Given the description of an element on the screen output the (x, y) to click on. 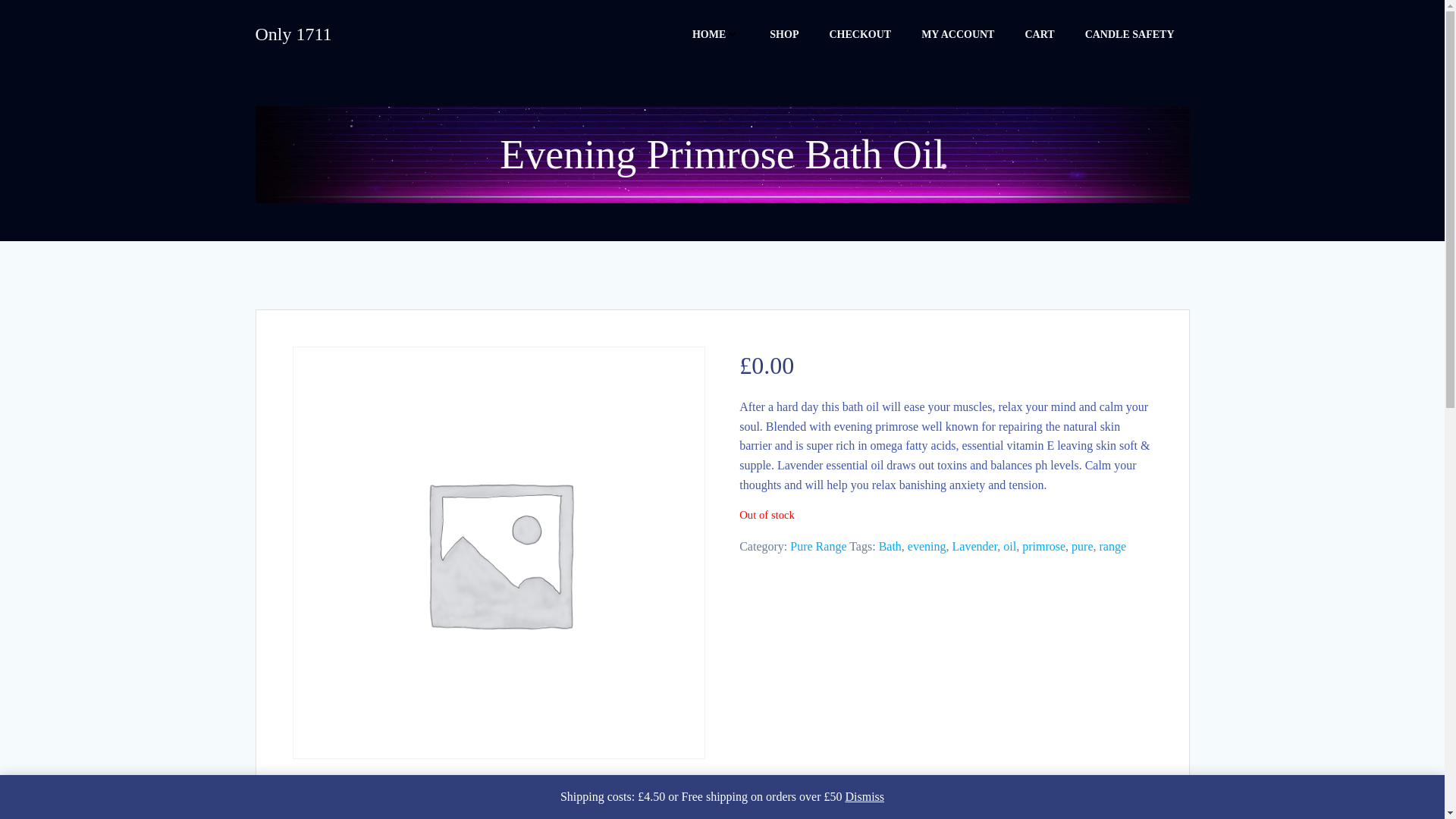
Pure Range (817, 545)
Only 1711 (292, 33)
Dismiss (863, 796)
HOME (716, 33)
primrose (1043, 545)
CANDLE SAFETY (1129, 33)
oil (1009, 545)
MY ACCOUNT (957, 33)
Description (347, 798)
Lavender (974, 545)
